Given the description of an element on the screen output the (x, y) to click on. 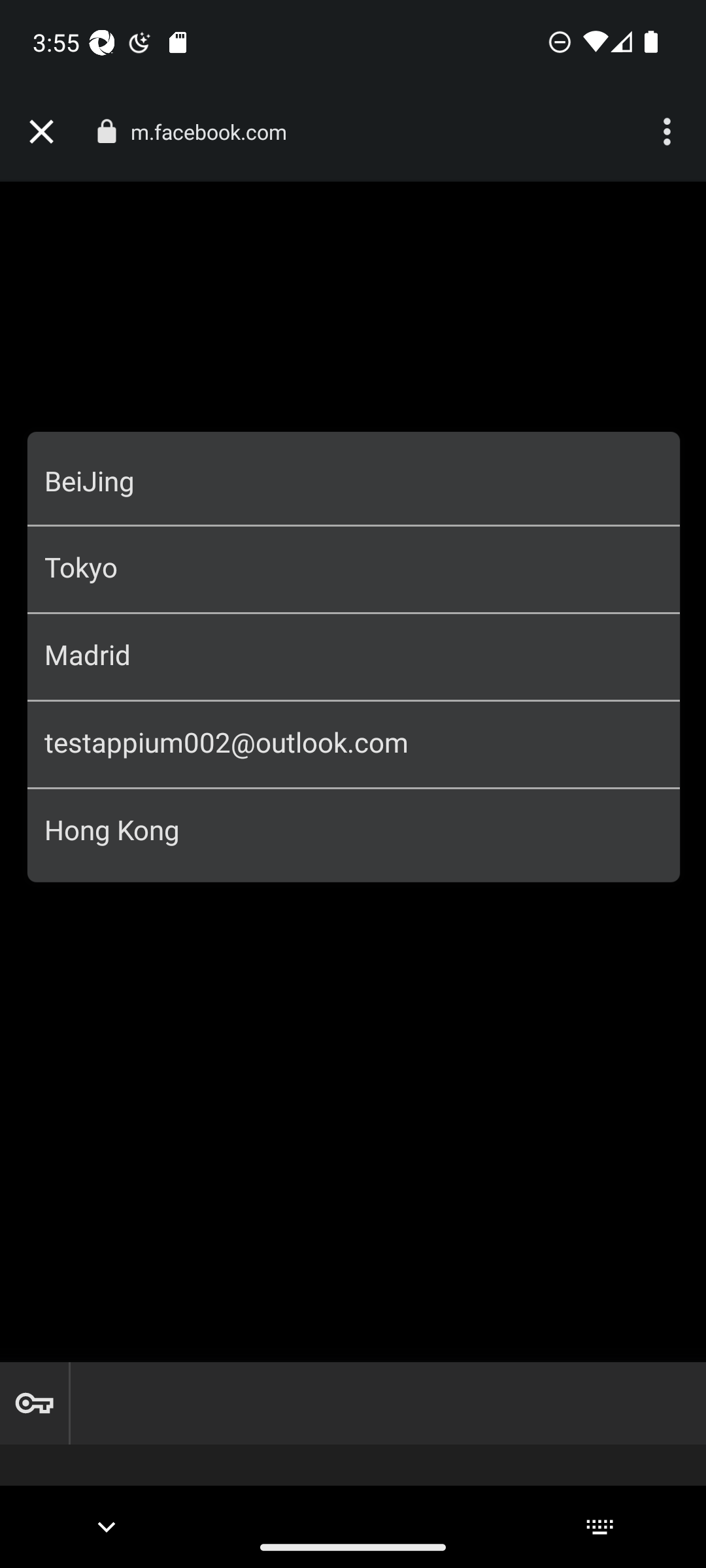
Close tab (41, 131)
More options (669, 131)
Connection is secure (106, 131)
m.facebook.com (215, 131)
Entrar (354, 575)
Show passwords (34, 1403)
